Given the description of an element on the screen output the (x, y) to click on. 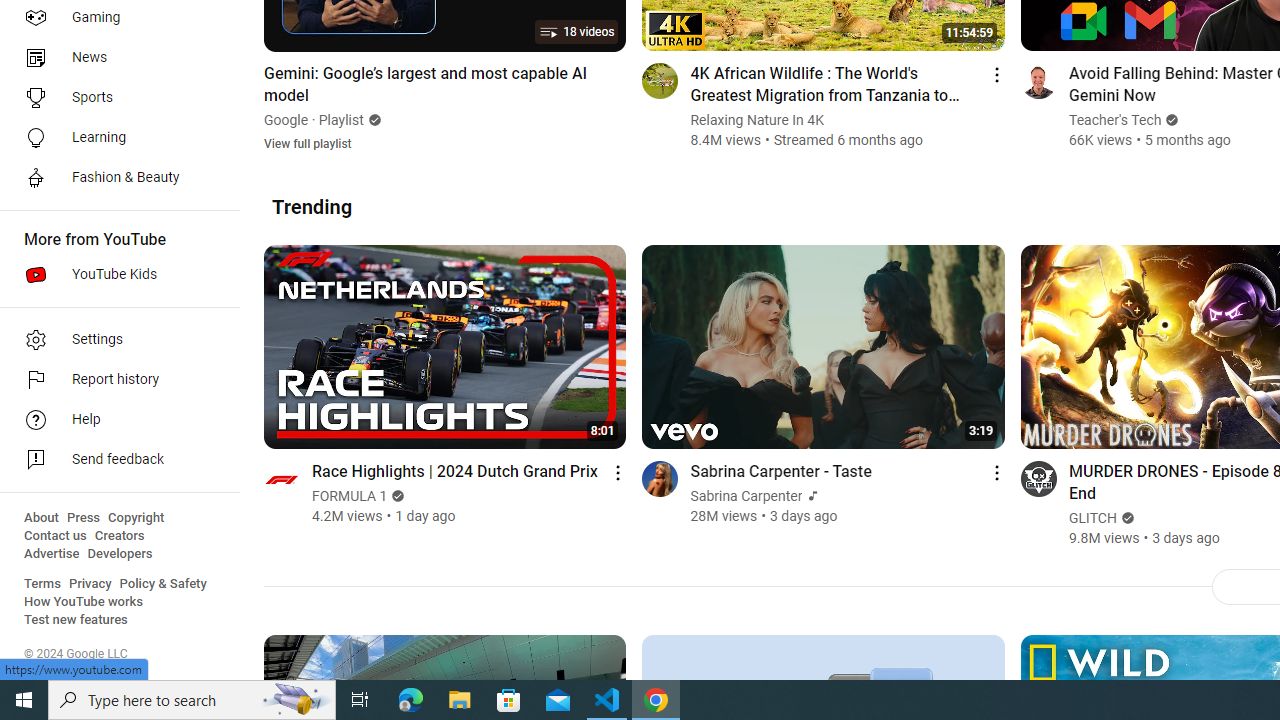
Official Artist Channel (811, 495)
About (41, 518)
Fashion & Beauty (113, 177)
Privacy (89, 584)
News (113, 57)
View full playlist (307, 142)
Playlist (341, 120)
FORMULA 1 (350, 496)
Press (83, 518)
GLITCH (1092, 518)
Google (286, 120)
Sabrina Carpenter (746, 496)
Copyright (136, 518)
